Given the description of an element on the screen output the (x, y) to click on. 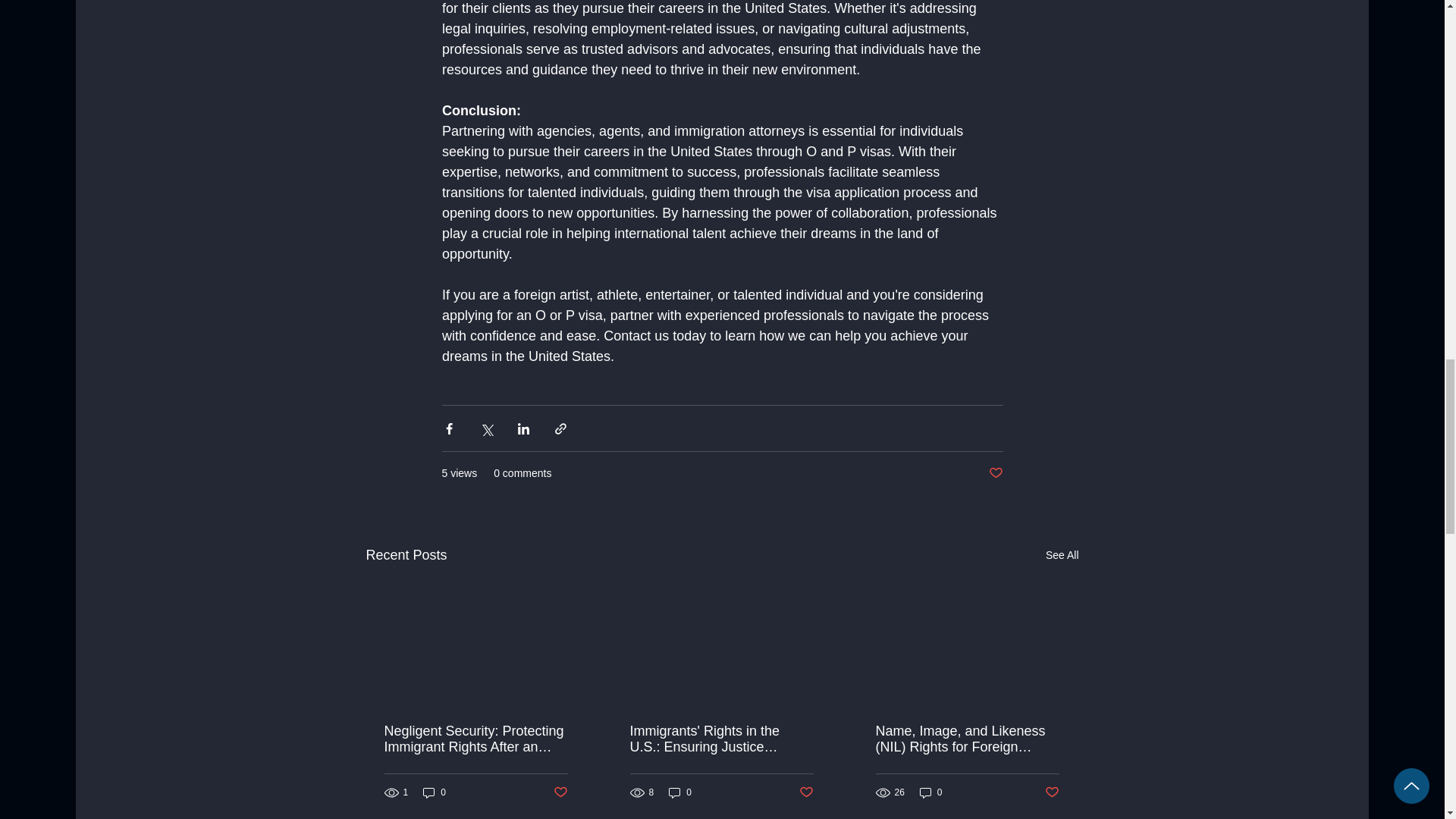
0 (679, 792)
Post not marked as liked (806, 792)
Post not marked as liked (1052, 792)
See All (1061, 555)
0 (434, 792)
Post not marked as liked (560, 792)
Post not marked as liked (995, 473)
0 (930, 792)
